Given the description of an element on the screen output the (x, y) to click on. 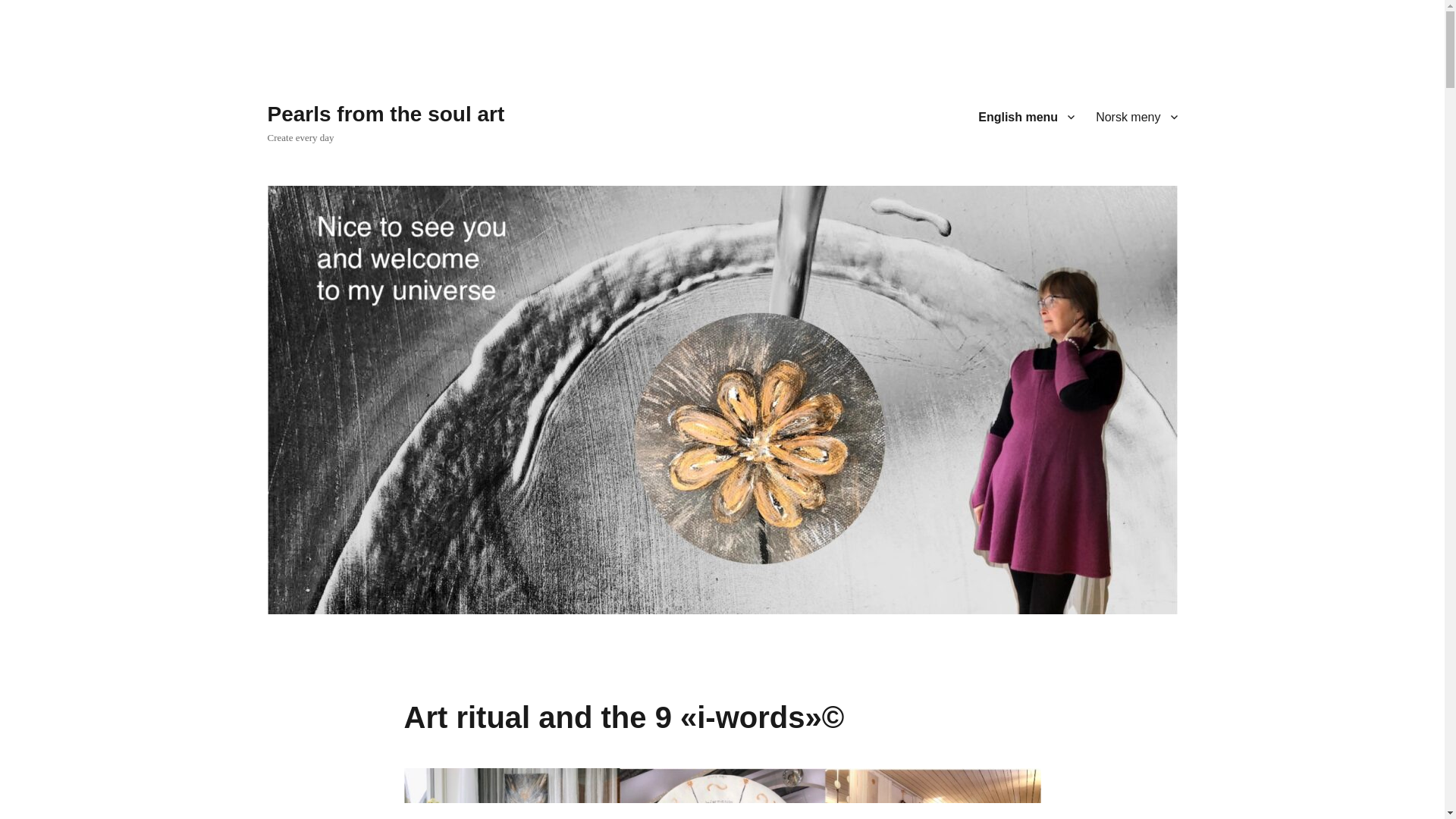
English menu (1026, 116)
Norsk meny (1136, 116)
Pearls from the soul art (384, 114)
